Given the description of an element on the screen output the (x, y) to click on. 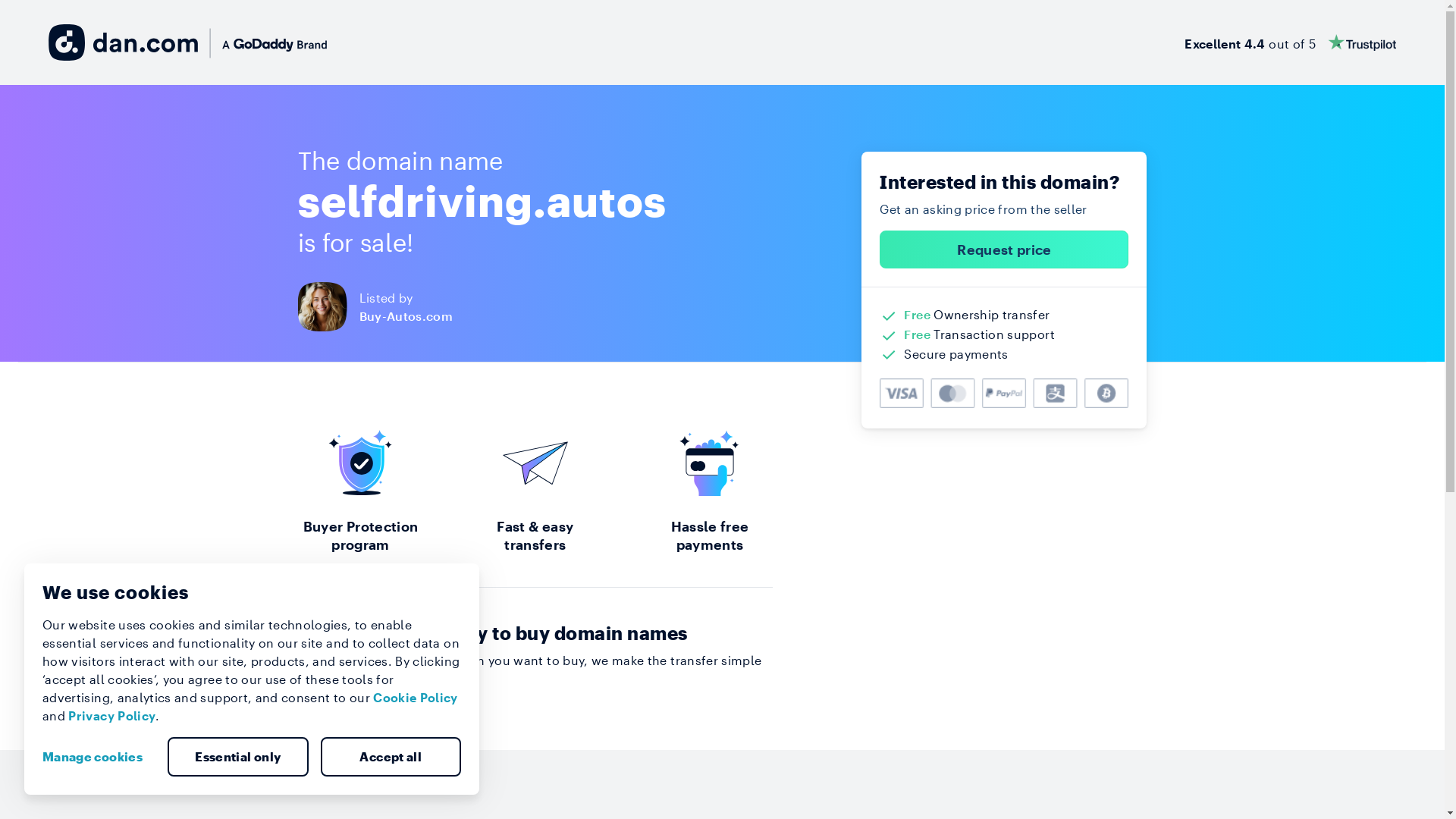
Essential only Element type: text (237, 756)
Request price Element type: text (1003, 249)
Cookie Policy Element type: text (415, 697)
Accept all Element type: text (390, 756)
Privacy Policy Element type: text (111, 715)
Excellent 4.4 out of 5 Element type: text (1290, 42)
Manage cookies Element type: text (98, 756)
